Given the description of an element on the screen output the (x, y) to click on. 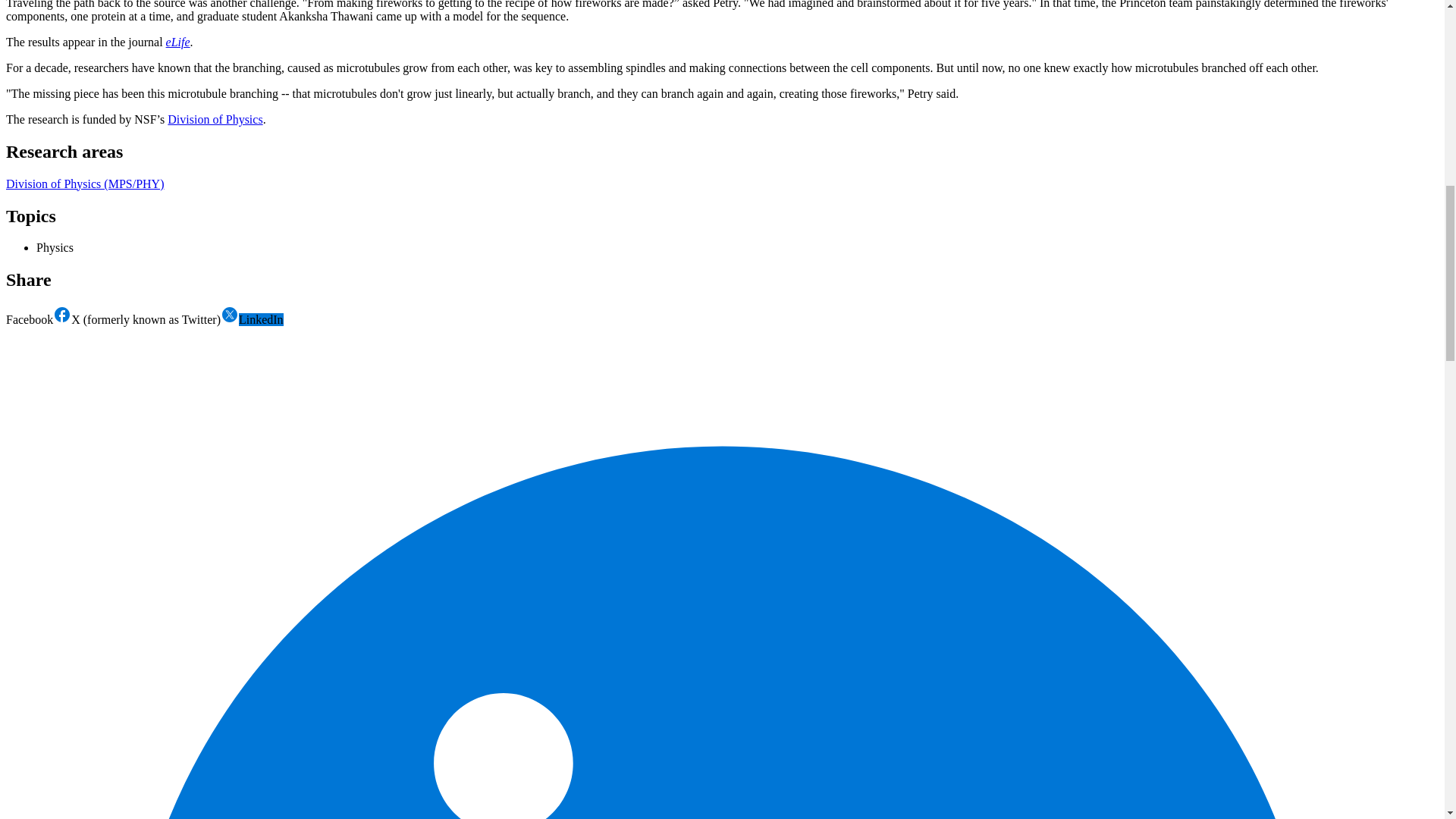
Facebook (38, 318)
eLife (177, 42)
Division of Physics (214, 119)
